Given the description of an element on the screen output the (x, y) to click on. 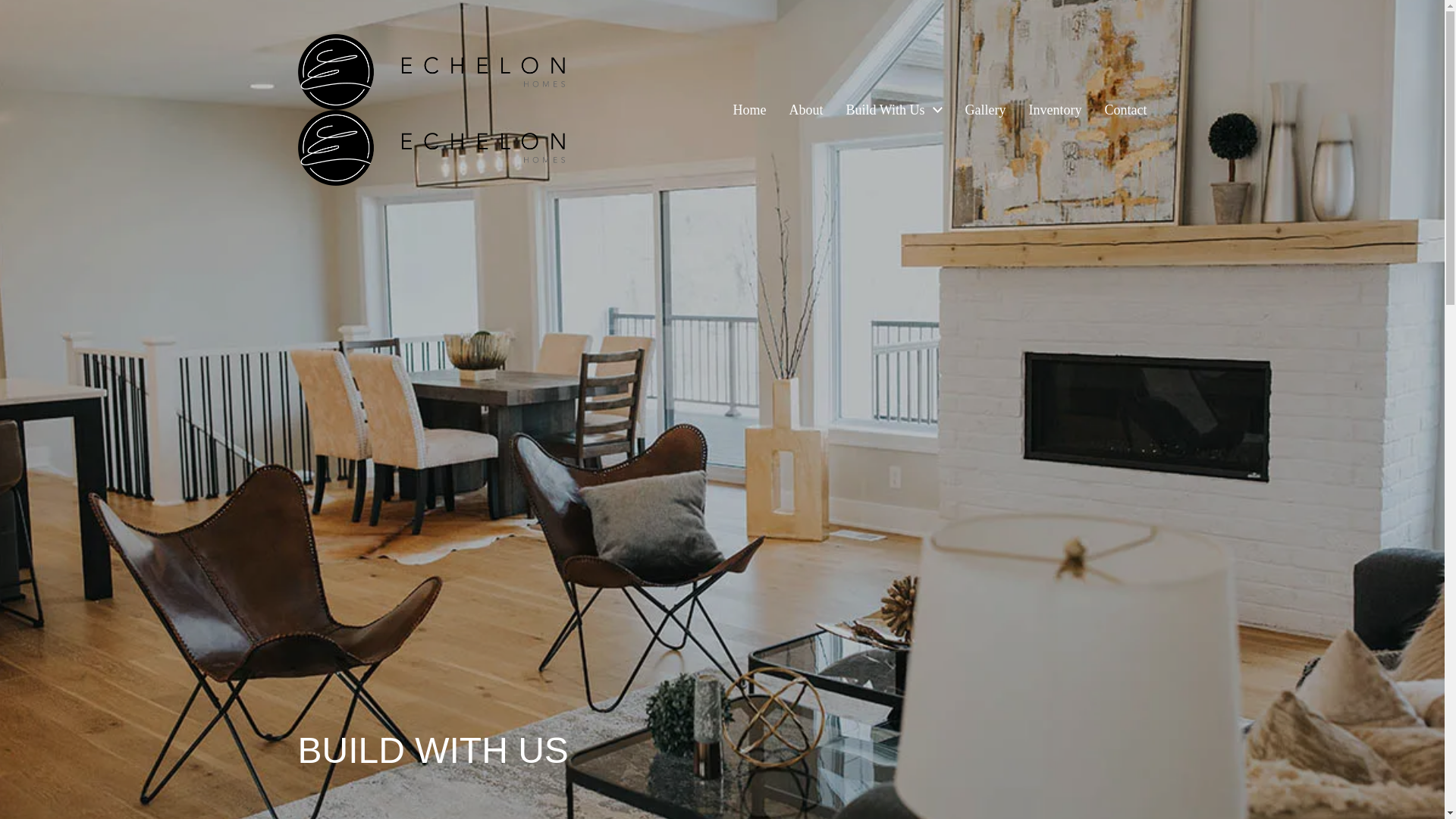
Contact (1125, 110)
Gallery (985, 110)
Inventory (1055, 110)
Build With Us (884, 110)
Home (750, 110)
About (806, 110)
